Given the description of an element on the screen output the (x, y) to click on. 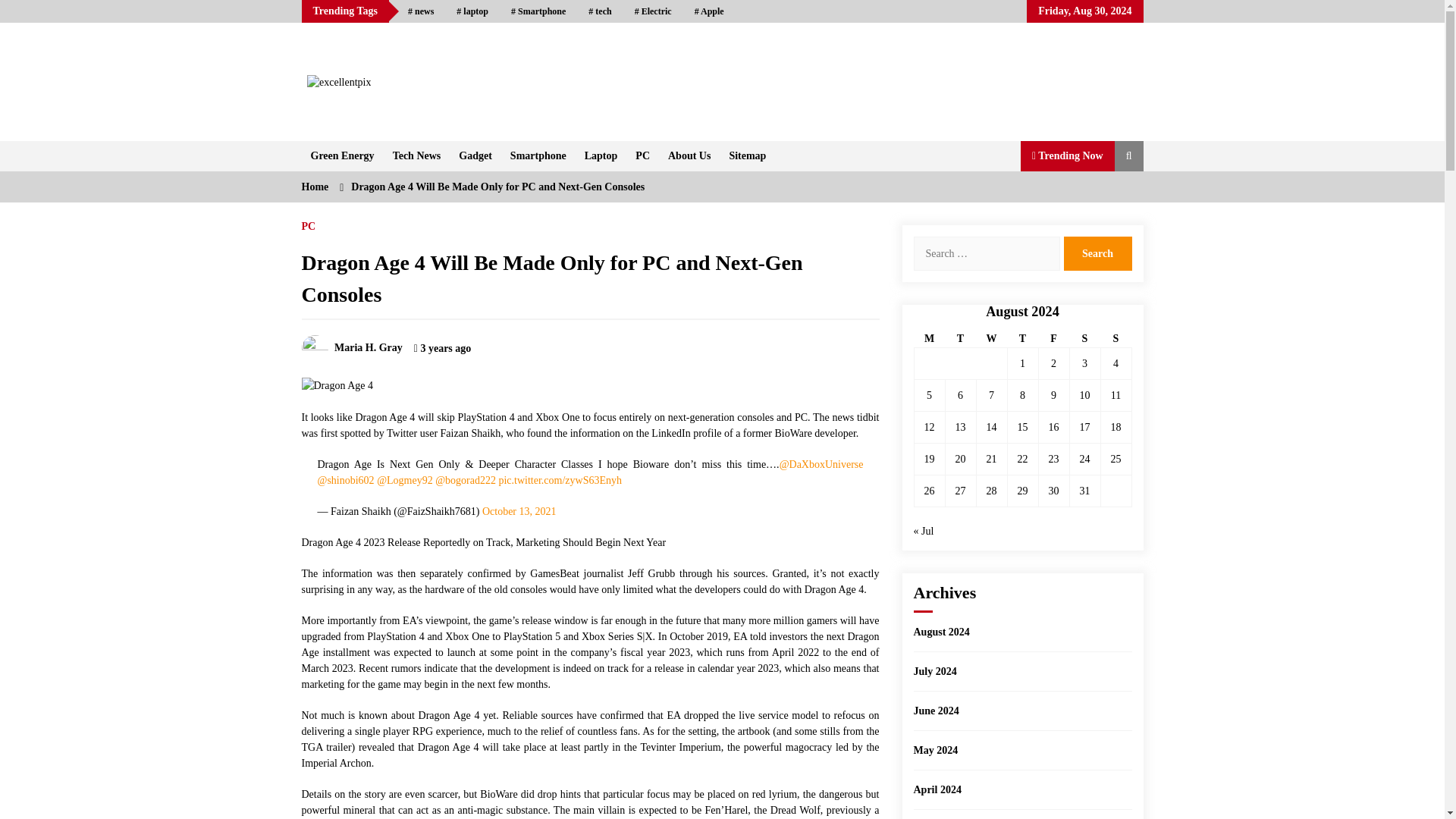
Smartphone (537, 11)
Wednesday (991, 339)
Electric (652, 11)
Smartphone (537, 155)
Sitemap (746, 155)
Search (1096, 253)
Tuesday (959, 339)
Laptop (601, 155)
Search (1096, 253)
About Us (689, 155)
